Given the description of an element on the screen output the (x, y) to click on. 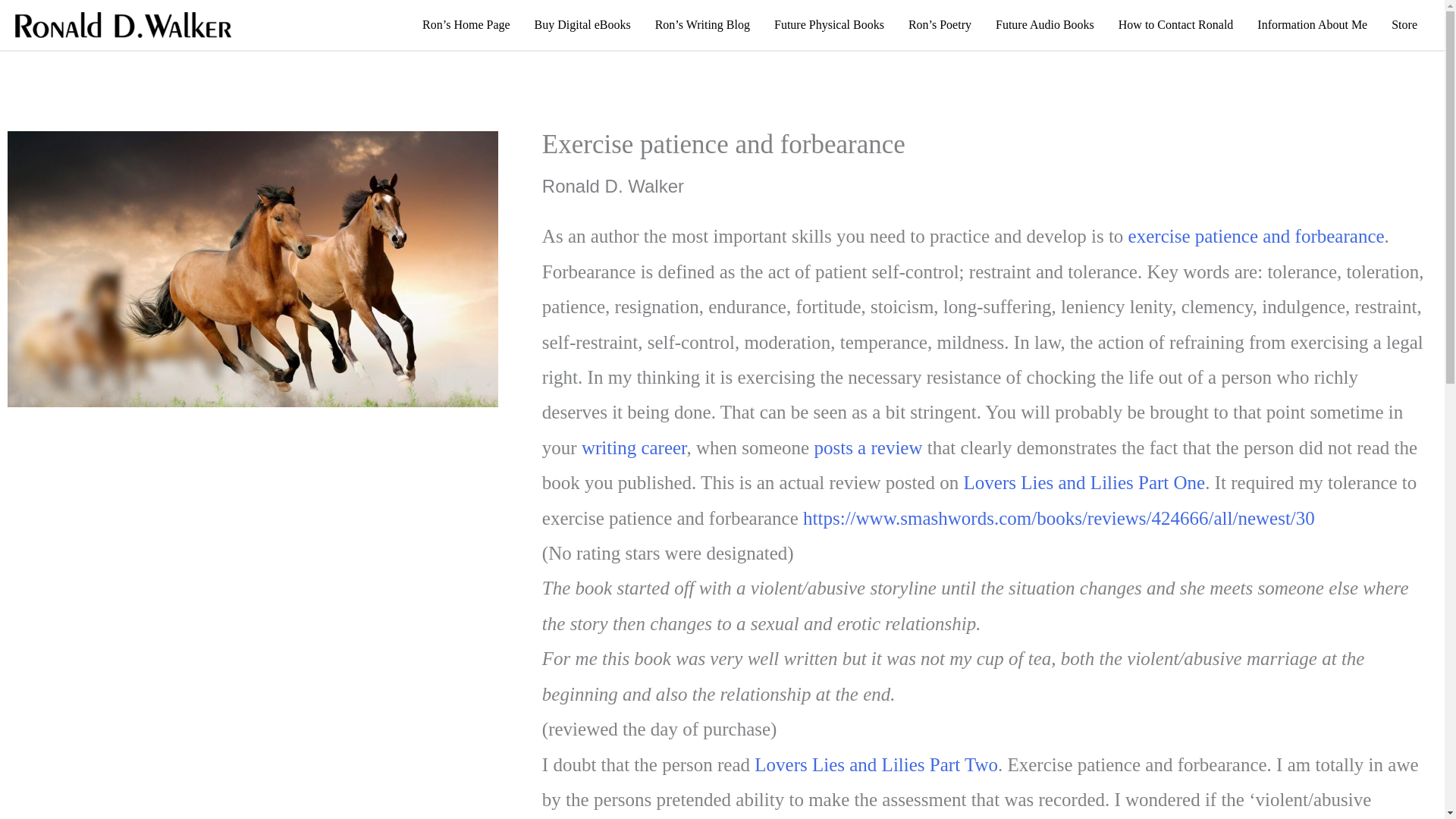
Buy Digital eBooks (582, 24)
Store (1403, 24)
writing career (633, 447)
Future Audio Books (1045, 24)
Lovers Lies and Lilies Part Two (875, 764)
posts a review (867, 447)
Lovers Lies and Lilies Part One (1084, 482)
Future Physical Books (828, 24)
Information About Me (1311, 24)
How to Contact Ronald (1176, 24)
